Given the description of an element on the screen output the (x, y) to click on. 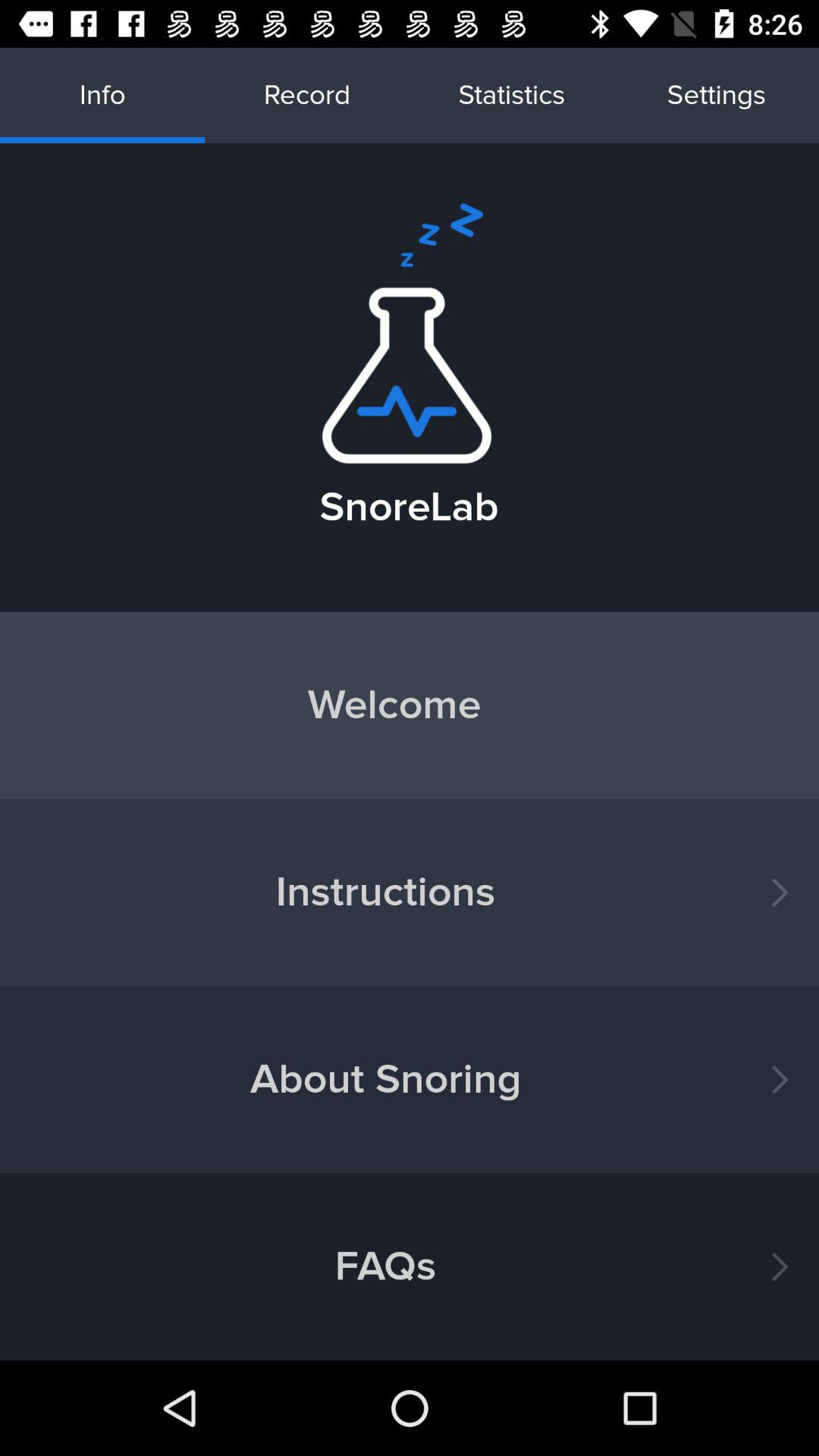
tap welcome icon (409, 705)
